Given the description of an element on the screen output the (x, y) to click on. 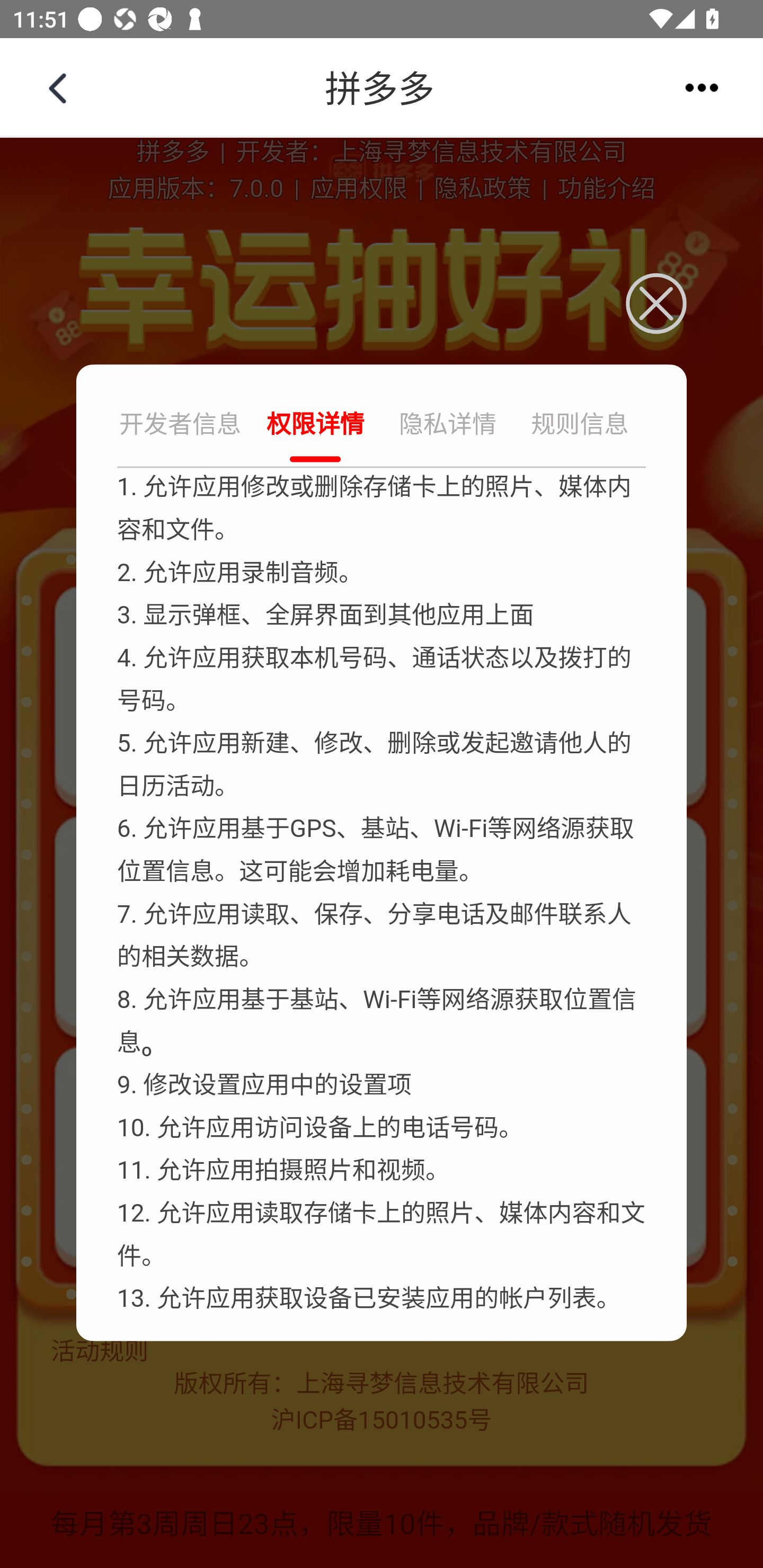
更多 (701, 86)
隐私政策 (482, 189)
开发者信息  (182, 425)
权限详情 (315, 425)
隐私详情 (448, 425)
规则信息 (580, 425)
